Given the description of an element on the screen output the (x, y) to click on. 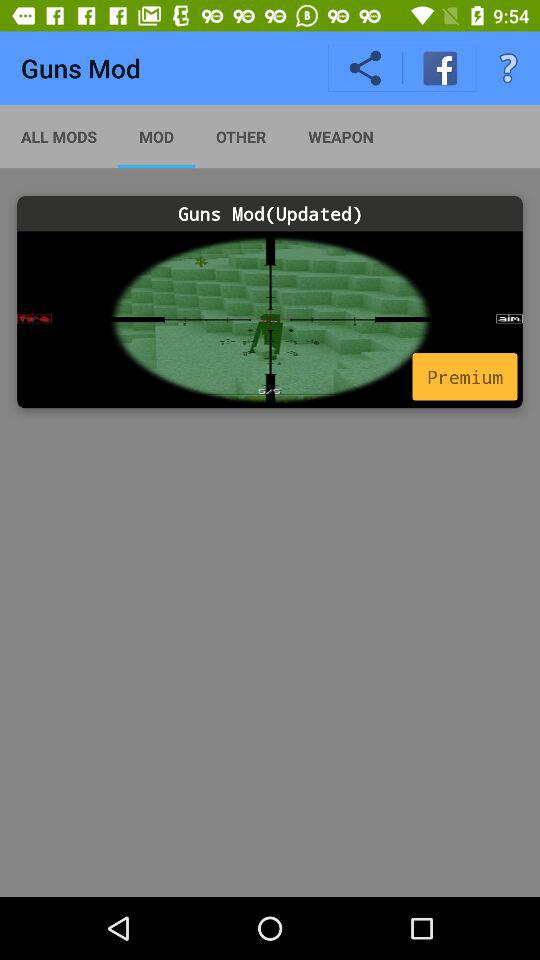
open item above the guns mod(updated) (508, 67)
